Given the description of an element on the screen output the (x, y) to click on. 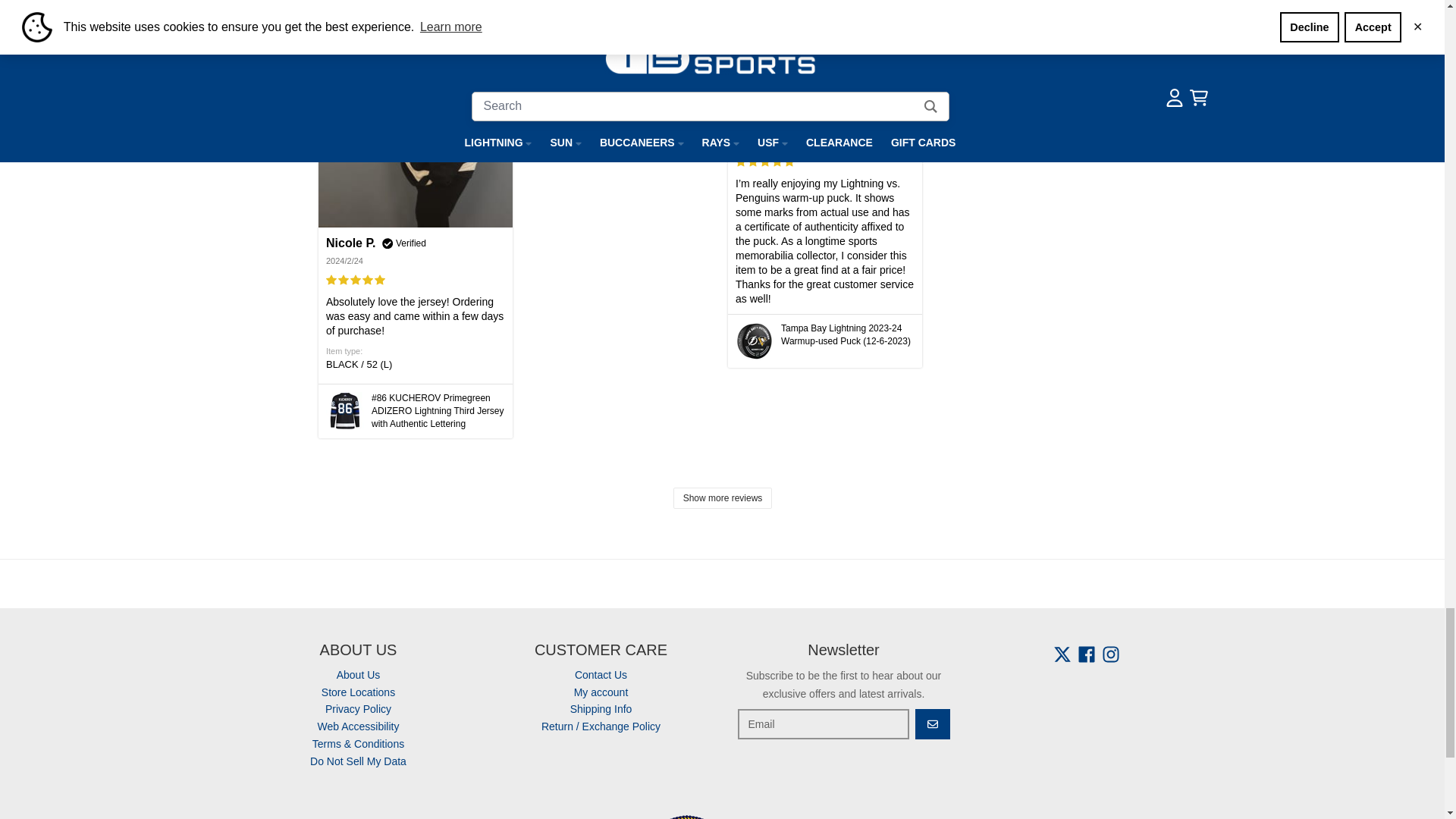
Twitter - Tampa Bay Sports (1061, 654)
Instagram - Tampa Bay Sports (1109, 654)
Facebook - Tampa Bay Sports (1085, 654)
